Given the description of an element on the screen output the (x, y) to click on. 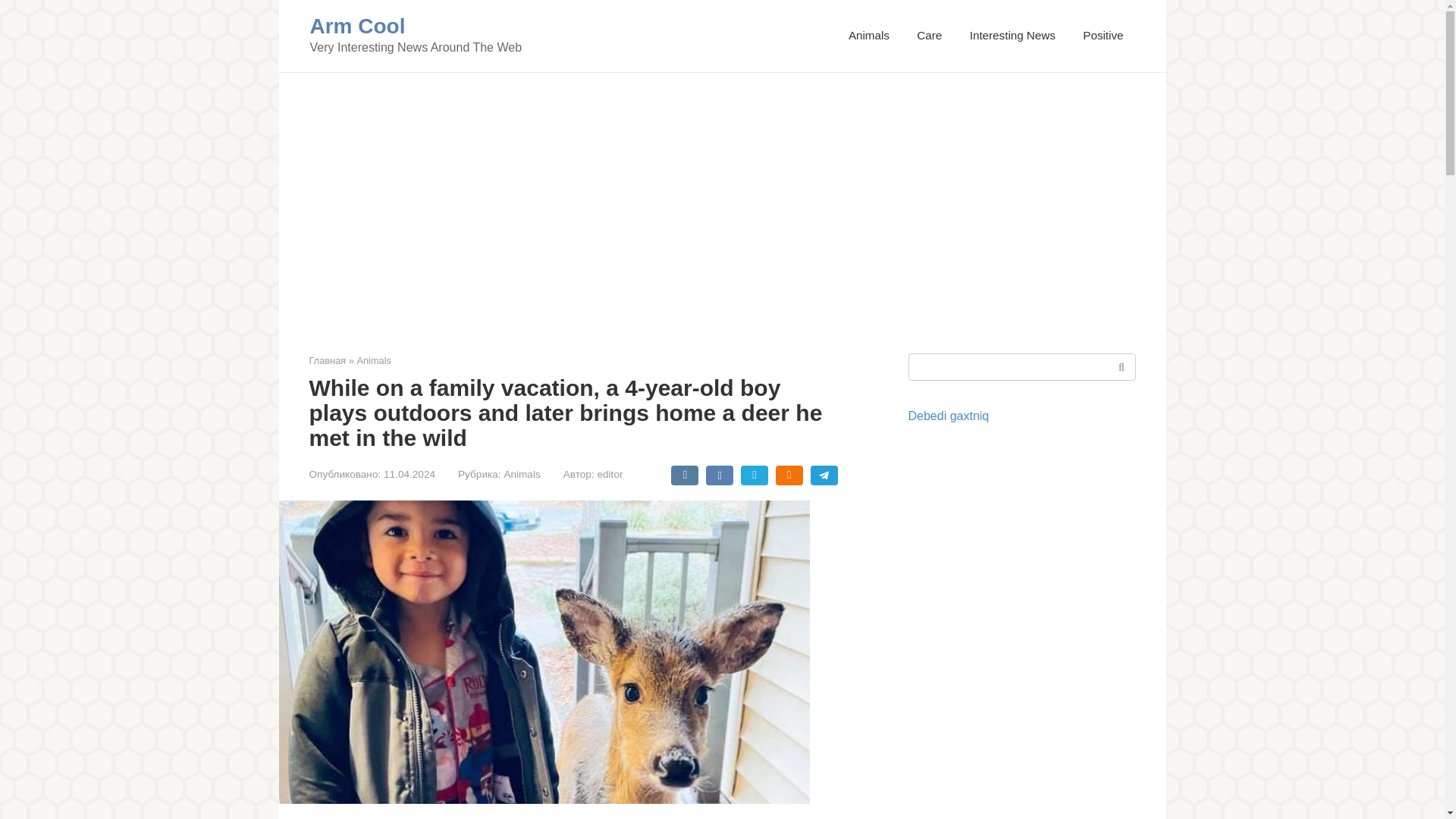
Arm Cool (356, 25)
Animals (521, 473)
Debedi gaxtniq (949, 415)
Animals (373, 360)
Positive (1102, 35)
Animals (868, 35)
Interesting News (1012, 35)
Care (929, 35)
